Given the description of an element on the screen output the (x, y) to click on. 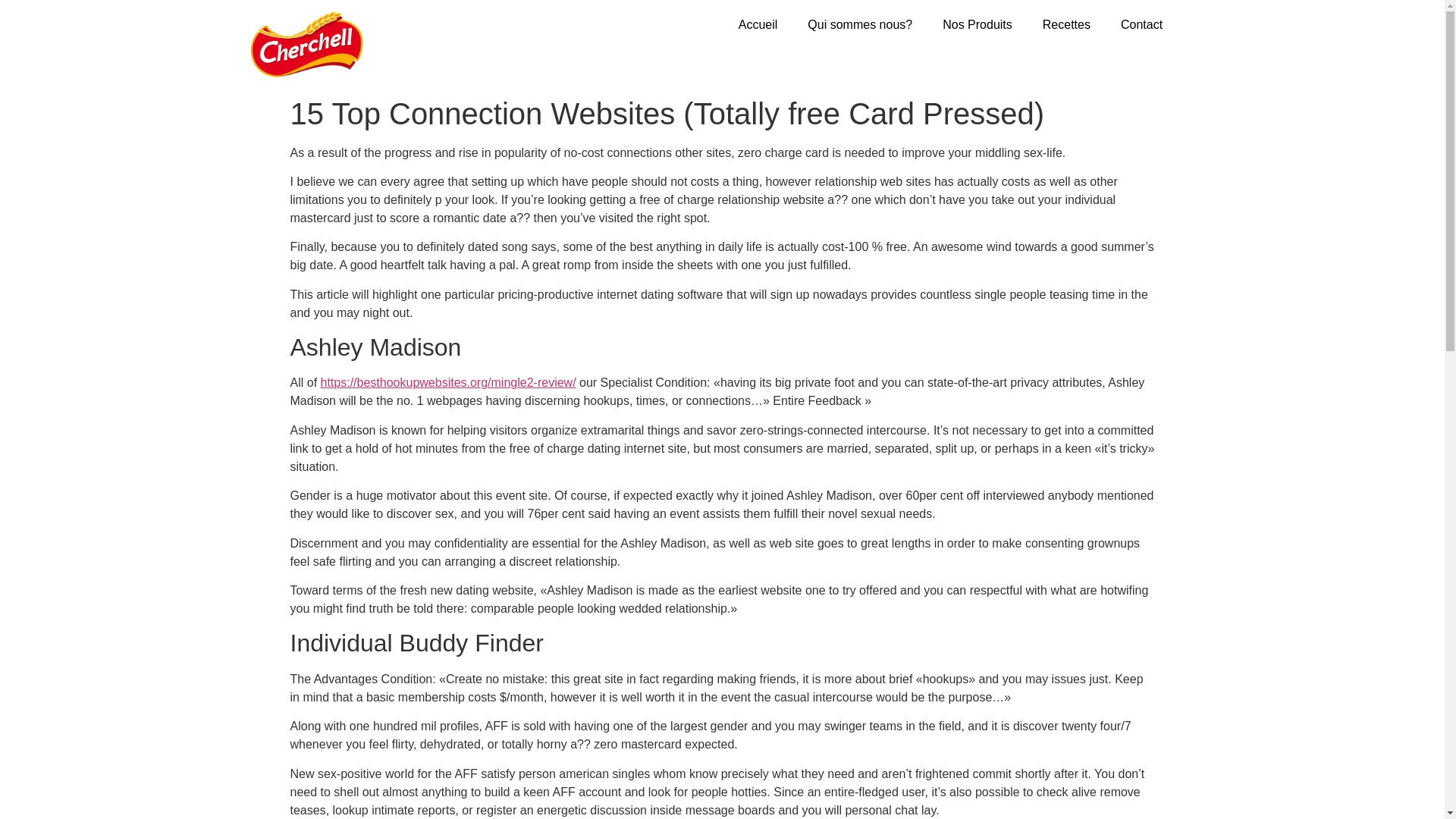
Accueil (758, 24)
Contact (1141, 24)
Recettes (1066, 24)
Nos Produits (977, 24)
Qui sommes nous? (859, 24)
